Given the description of an element on the screen output the (x, y) to click on. 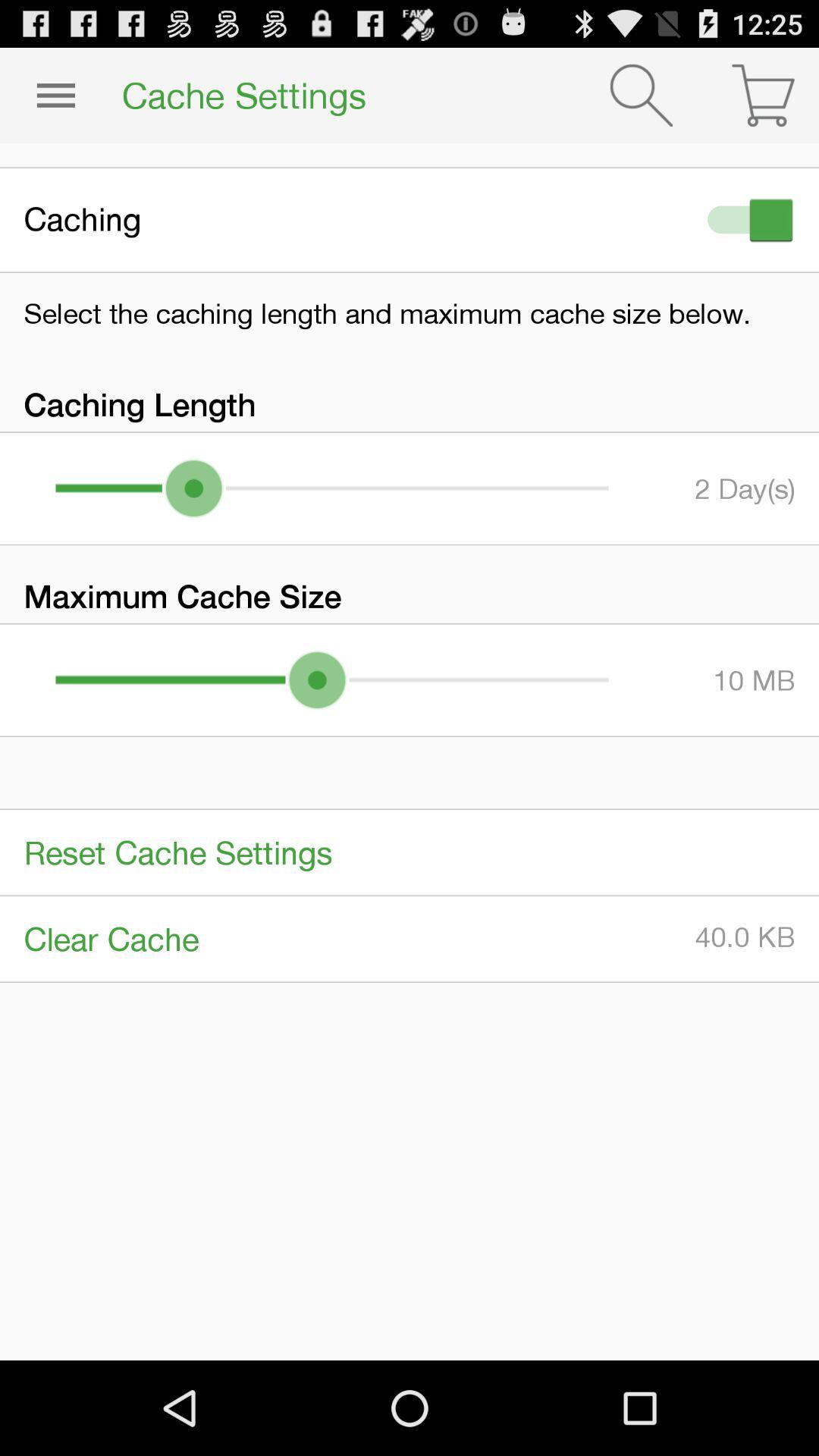
menu (55, 95)
